Given the description of an element on the screen output the (x, y) to click on. 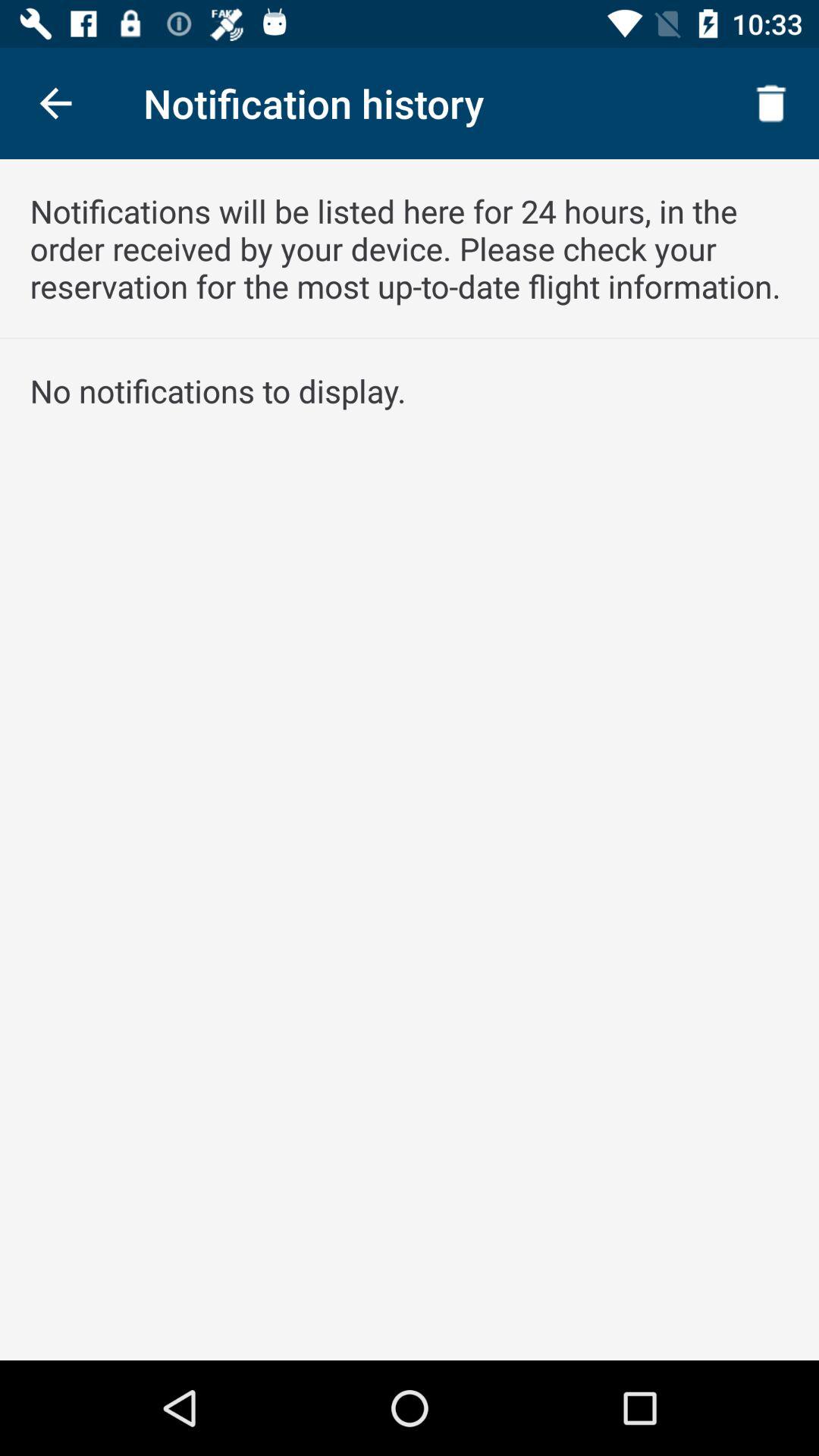
open icon to the right of the notification history icon (771, 103)
